Given the description of an element on the screen output the (x, y) to click on. 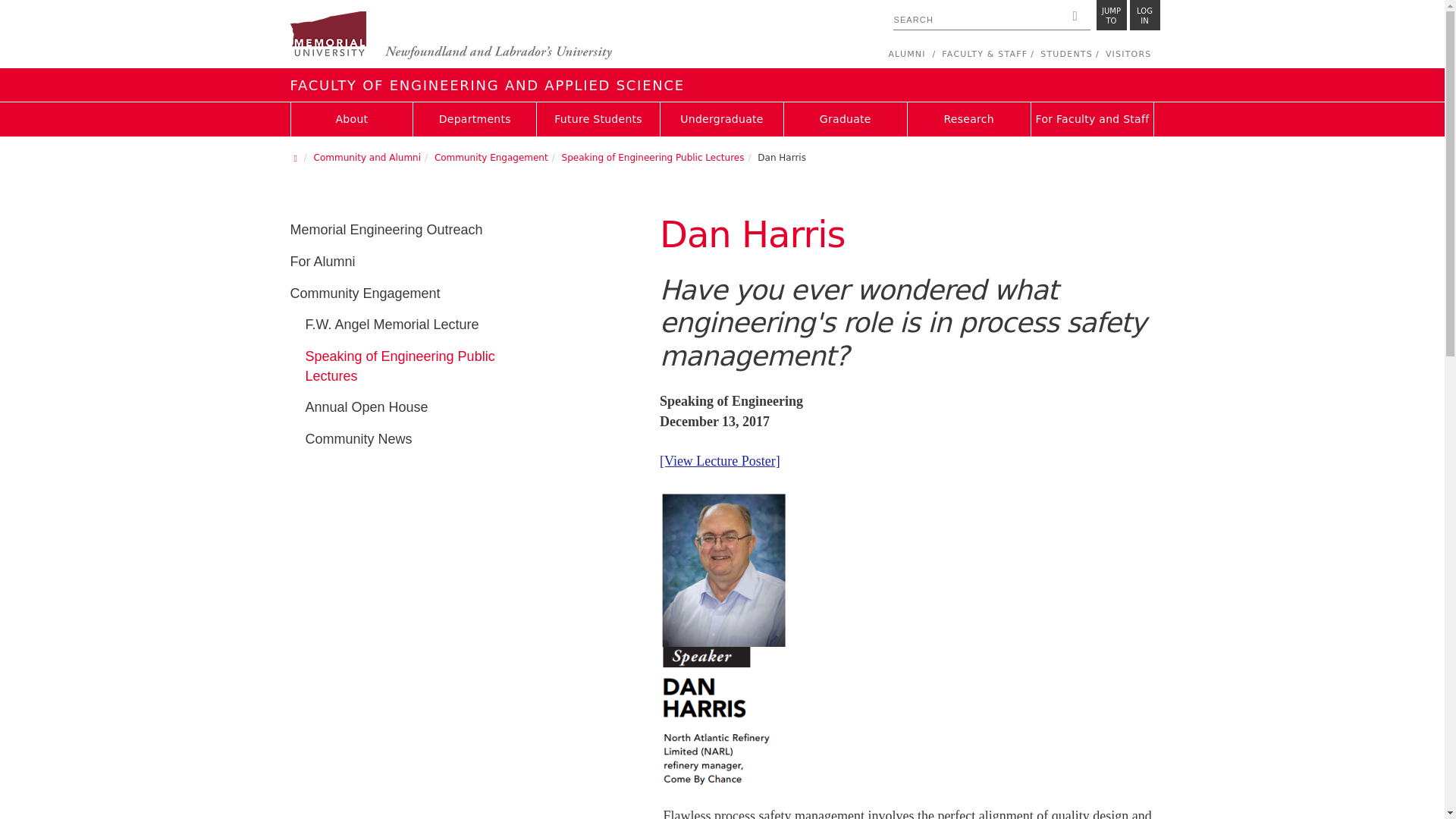
Memorial University (1144, 15)
JUMP TO (450, 35)
Memorial University of Newfoundland (1111, 15)
